Given the description of an element on the screen output the (x, y) to click on. 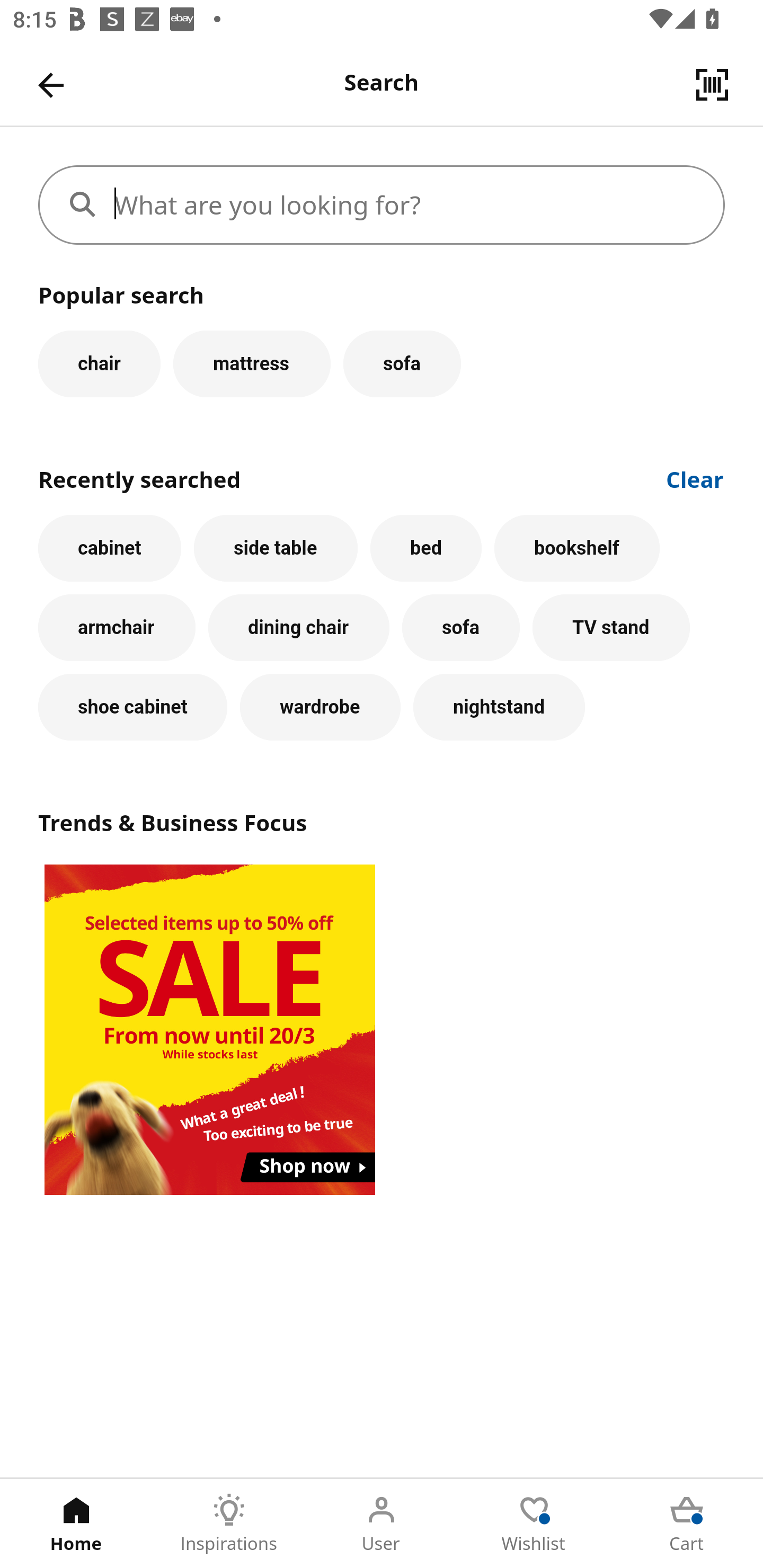
chair (99, 363)
mattress (251, 363)
sofa (401, 363)
Clear (695, 477)
cabinet (109, 547)
side table (275, 547)
bed (425, 547)
bookshelf (576, 547)
armchair (116, 627)
dining chair (298, 627)
sofa (460, 627)
TV stand (610, 627)
shoe cabinet (132, 707)
wardrobe (320, 707)
nightstand (499, 707)
Home
Tab 1 of 5 (76, 1522)
Inspirations
Tab 2 of 5 (228, 1522)
User
Tab 3 of 5 (381, 1522)
Wishlist
Tab 4 of 5 (533, 1522)
Cart
Tab 5 of 5 (686, 1522)
